Given the description of an element on the screen output the (x, y) to click on. 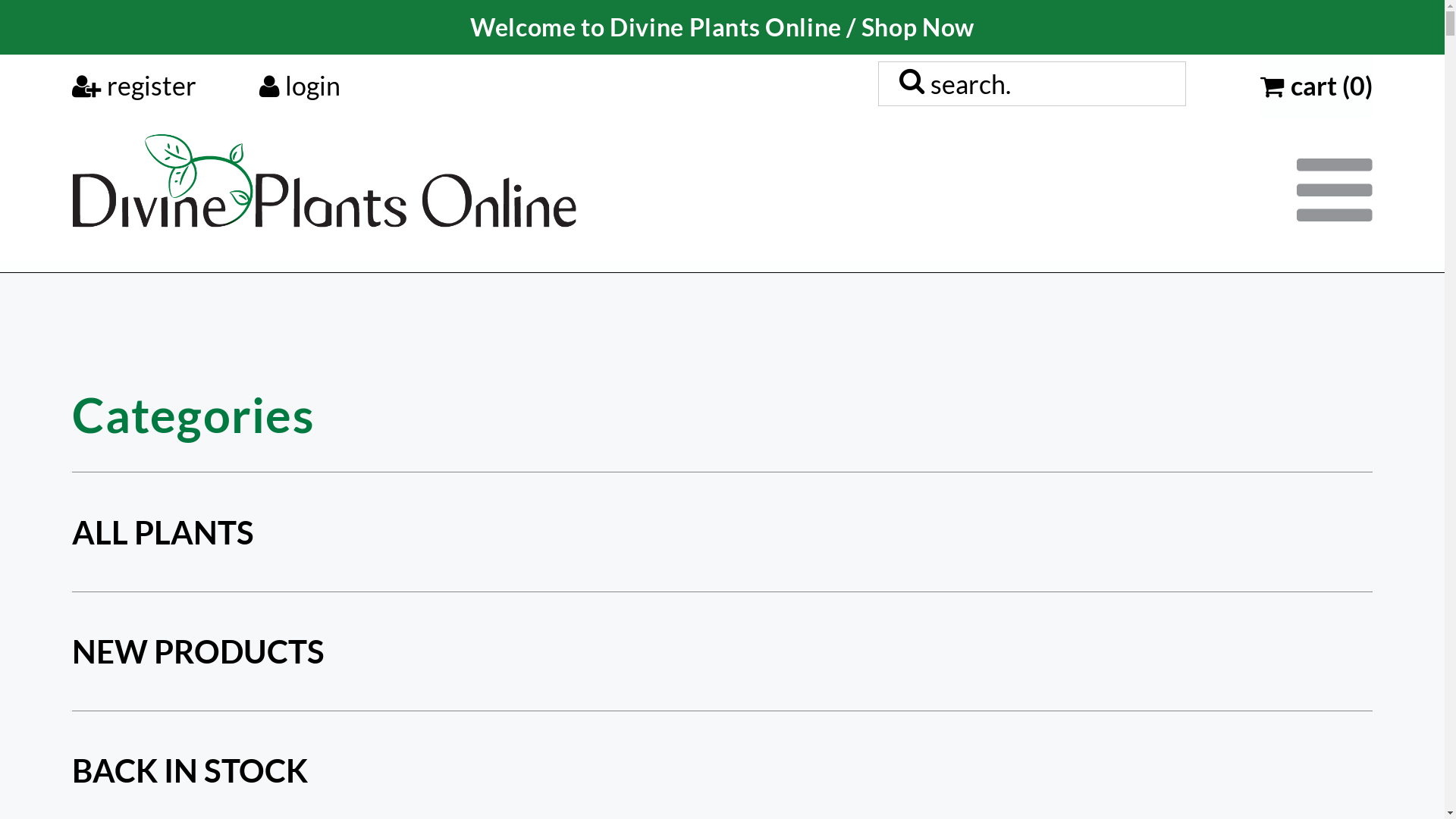
NEW PRODUCTS Element type: text (198, 650)
cart (0) Element type: text (1315, 85)
login Element type: text (299, 85)
Welcome to Divine Plants Online / Shop Now Element type: text (722, 26)
ALL PLANTS Element type: text (163, 531)
BACK IN STOCK Element type: text (189, 769)
register Element type: text (134, 85)
